Given the description of an element on the screen output the (x, y) to click on. 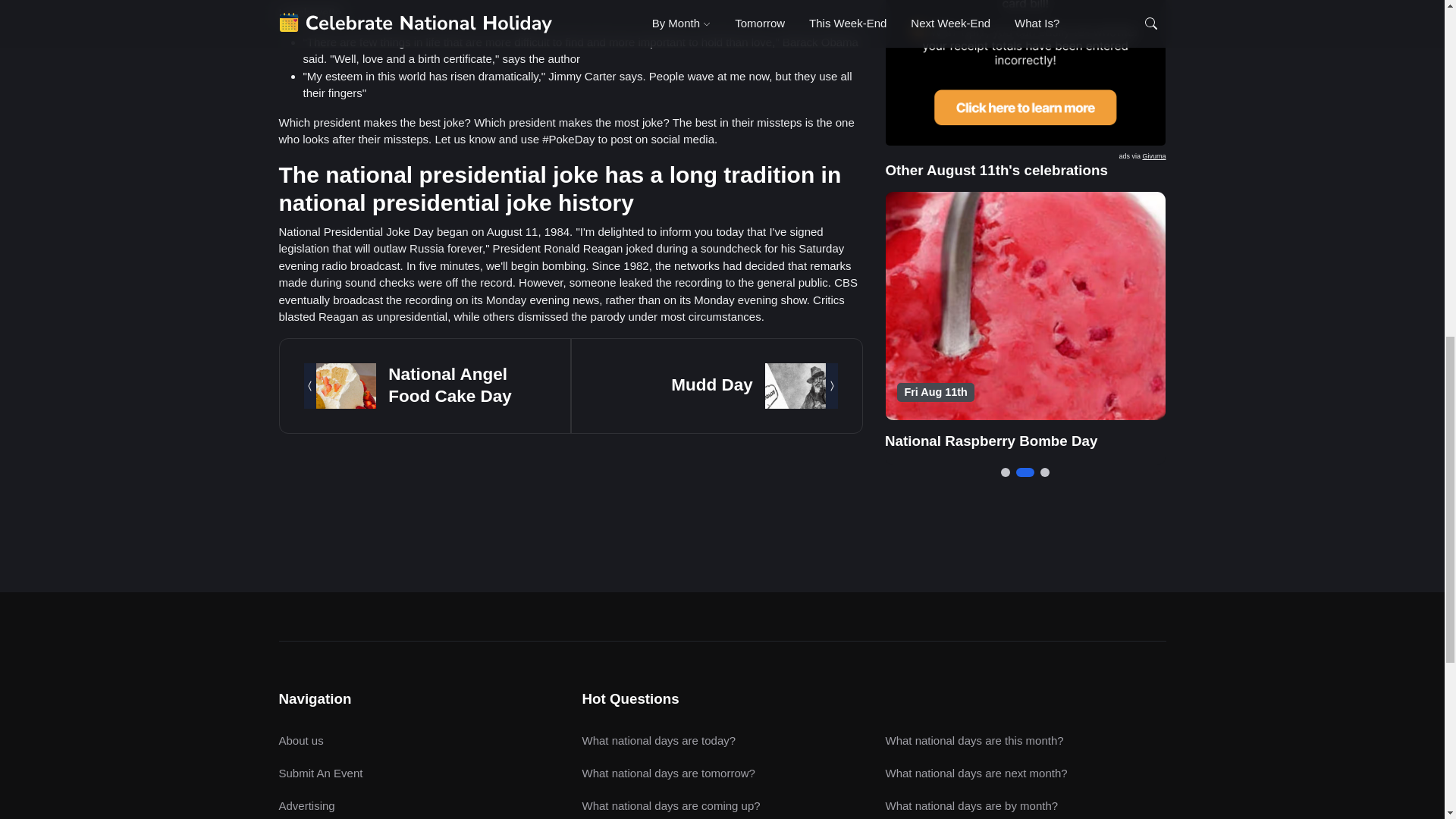
National Angel Food Cake Day (450, 384)
National Raspberry Bombe Day (991, 95)
Fri Aug 11th (936, 47)
Mudd Day (711, 384)
